Given the description of an element on the screen output the (x, y) to click on. 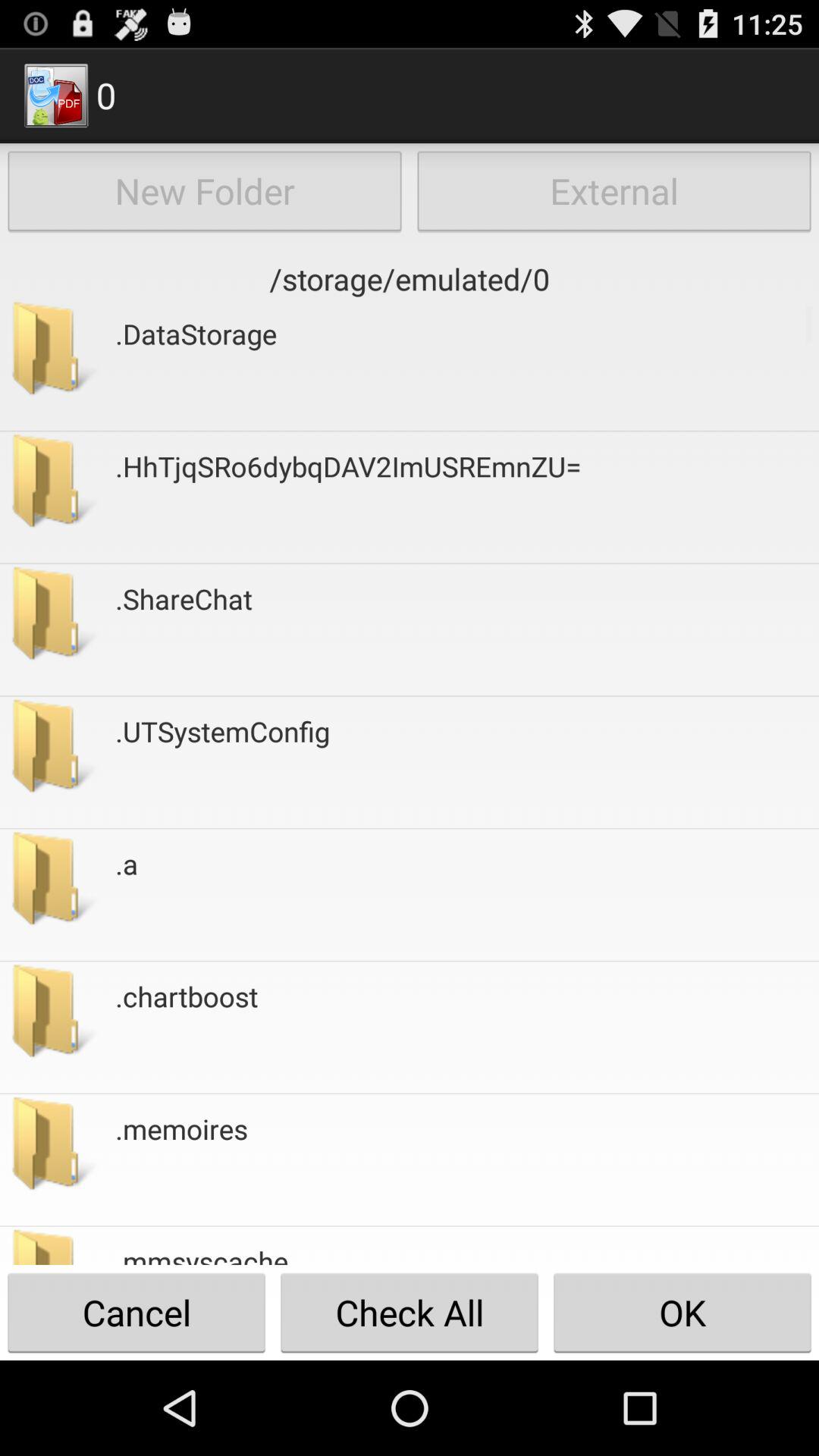
click the .datastorage app (195, 364)
